Given the description of an element on the screen output the (x, y) to click on. 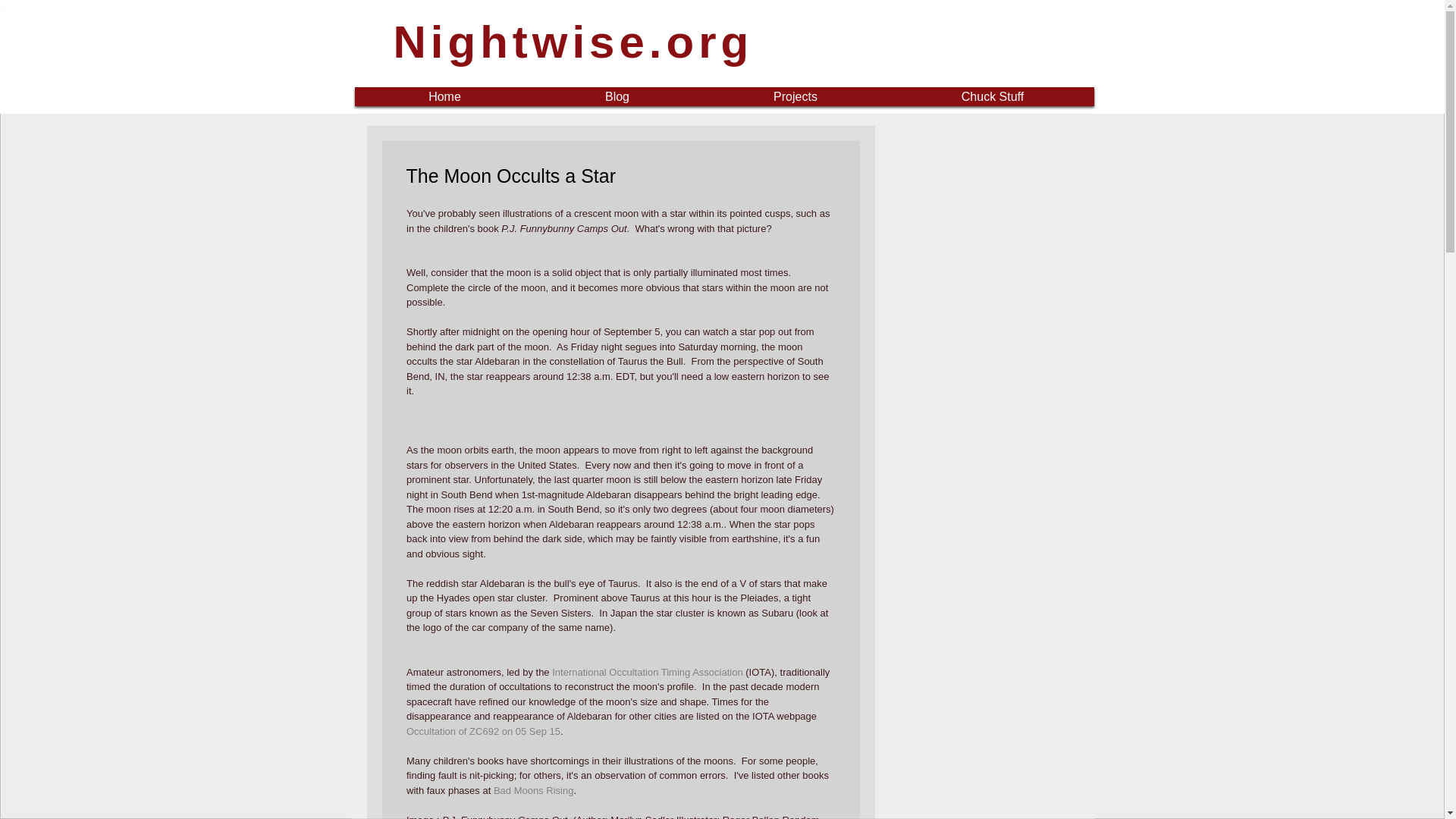
Occultation of ZC692 on 05 Sep 15 (483, 730)
Blog (617, 96)
Chuck Stuff (992, 96)
Projects (795, 96)
Home (444, 96)
International Occultation Timing Association (646, 671)
